Given the description of an element on the screen output the (x, y) to click on. 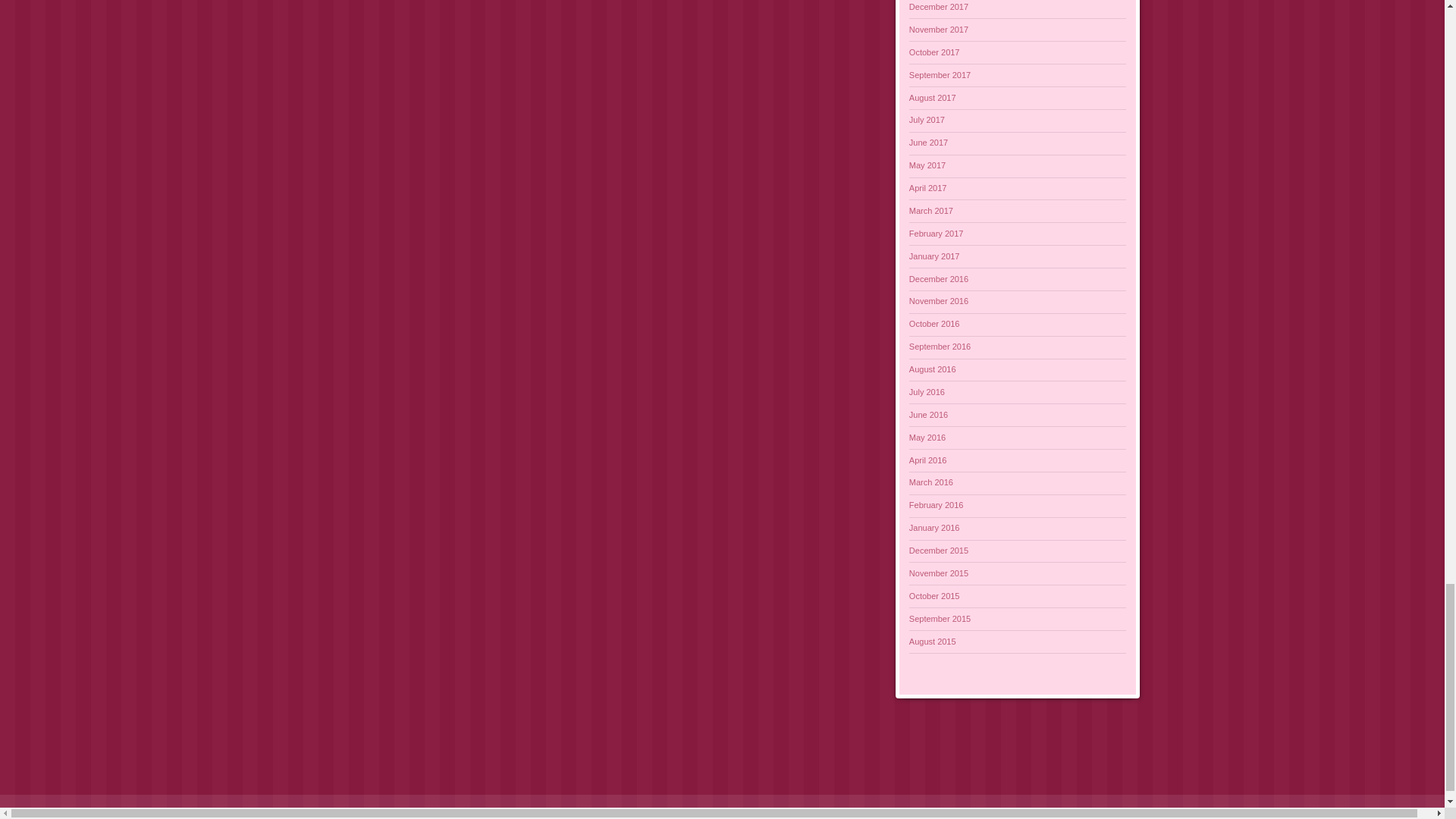
Semantic Personal Publishing Platform (108, 810)
